Given the description of an element on the screen output the (x, y) to click on. 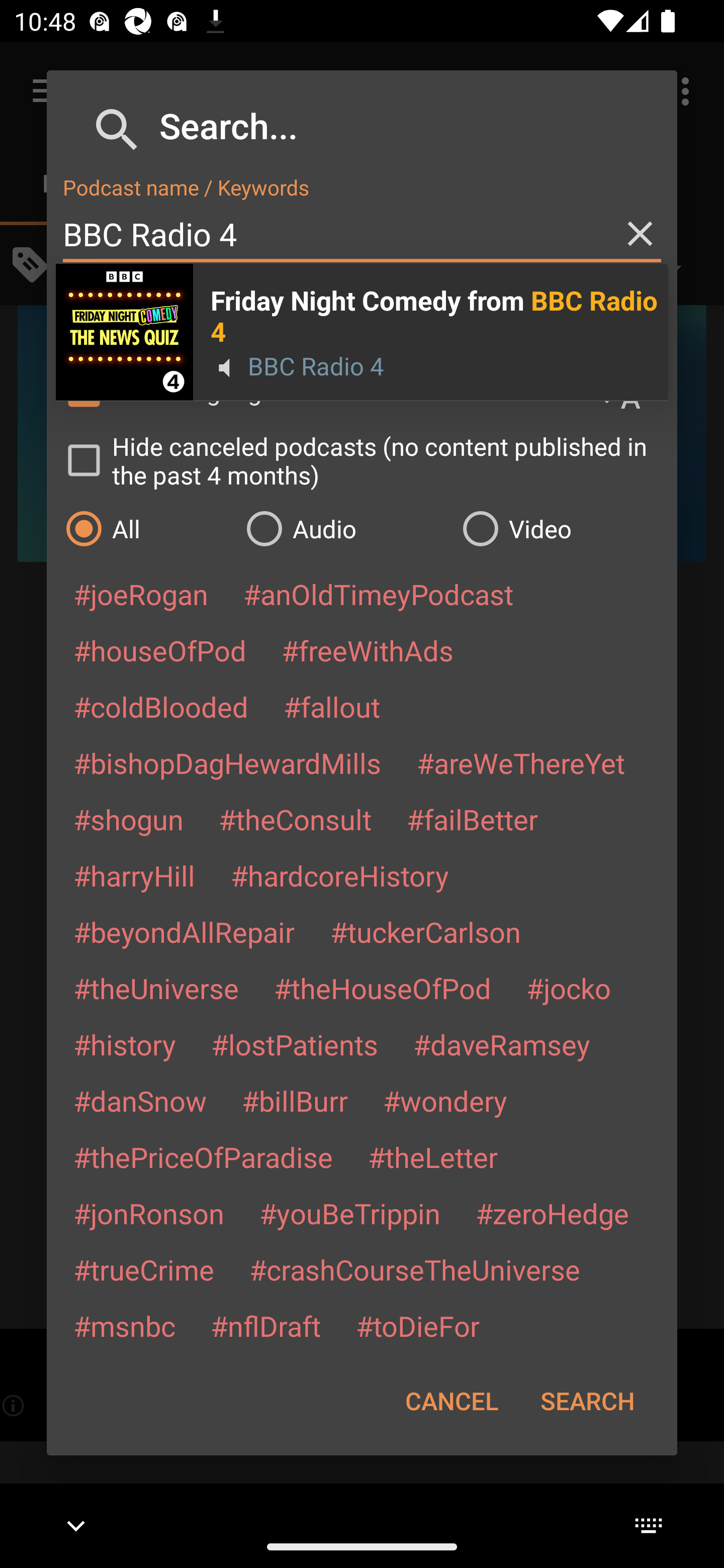
BBC Radio 4 (361, 234)
All (145, 528)
Audio (344, 528)
Video (560, 528)
#joeRogan (140, 594)
#anOldTimeyPodcast (378, 594)
#houseOfPod (159, 650)
#freeWithAds (367, 650)
#coldBlooded (160, 705)
#fallout (331, 705)
#bishopDagHewardMills (227, 762)
#areWeThereYet (521, 762)
#shogun (128, 818)
#theConsult (294, 818)
#failBetter (471, 818)
#harryHill (134, 875)
#hardcoreHistory (339, 875)
#beyondAllRepair (184, 931)
#tuckerCarlson (425, 931)
#theUniverse (155, 987)
#theHouseOfPod (381, 987)
#jocko (568, 987)
#history (124, 1044)
#lostPatients (294, 1044)
#daveRamsey (501, 1044)
#danSnow (139, 1100)
#billBurr (294, 1100)
#wondery (444, 1100)
#thePriceOfParadise (203, 1157)
#theLetter (432, 1157)
#jonRonson (148, 1213)
#youBeTrippin (349, 1213)
#zeroHedge (552, 1213)
#trueCrime (143, 1268)
#crashCourseTheUniverse (414, 1268)
#msnbc (124, 1325)
#nflDraft (265, 1325)
#toDieFor (417, 1325)
CANCEL (451, 1400)
SEARCH (587, 1400)
